Given the description of an element on the screen output the (x, y) to click on. 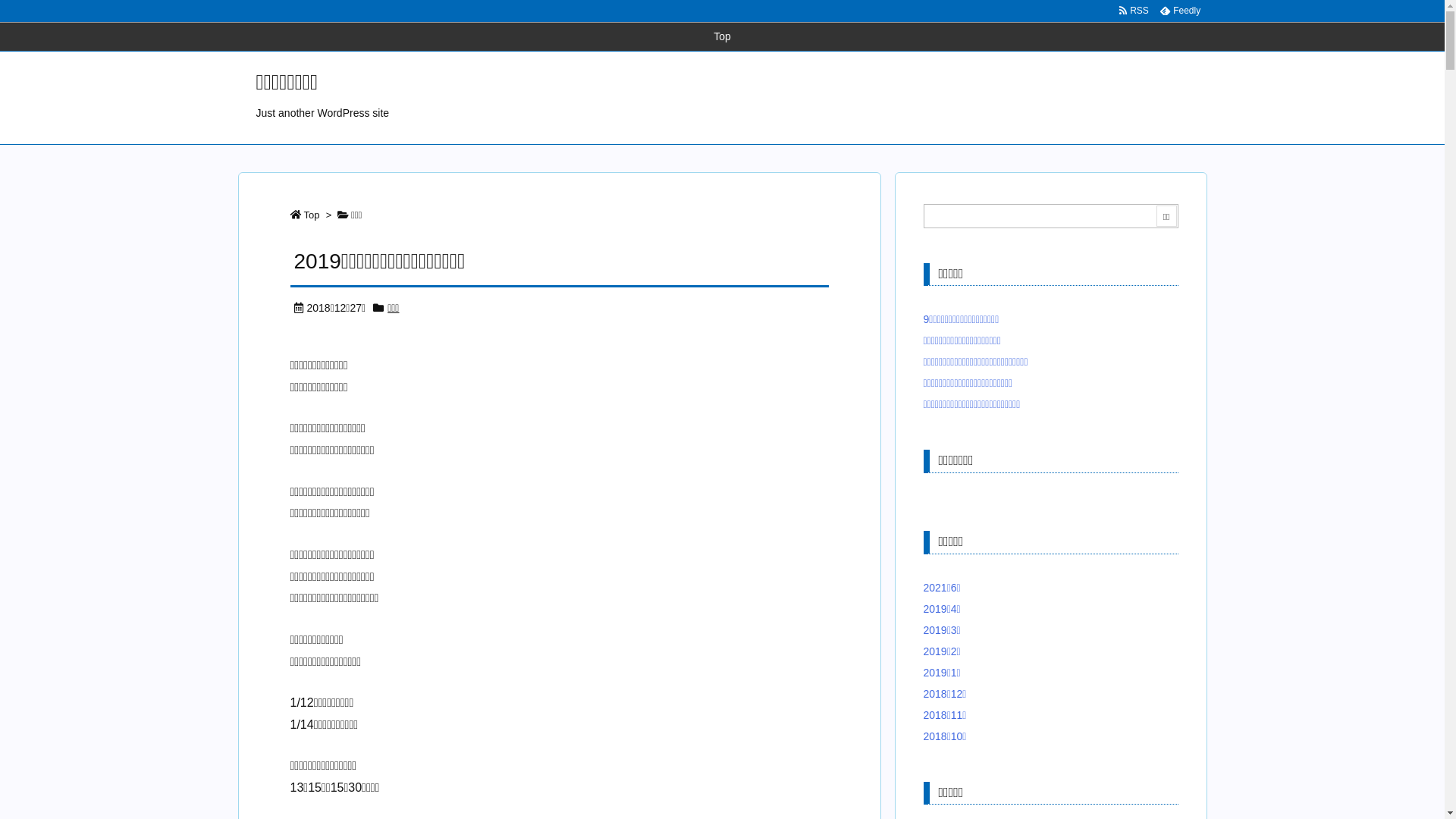
  RSS  Element type: text (1133, 10)
  Feedly  Element type: text (1179, 10)
Top Element type: text (721, 36)
Top Element type: text (311, 214)
